Given the description of an element on the screen output the (x, y) to click on. 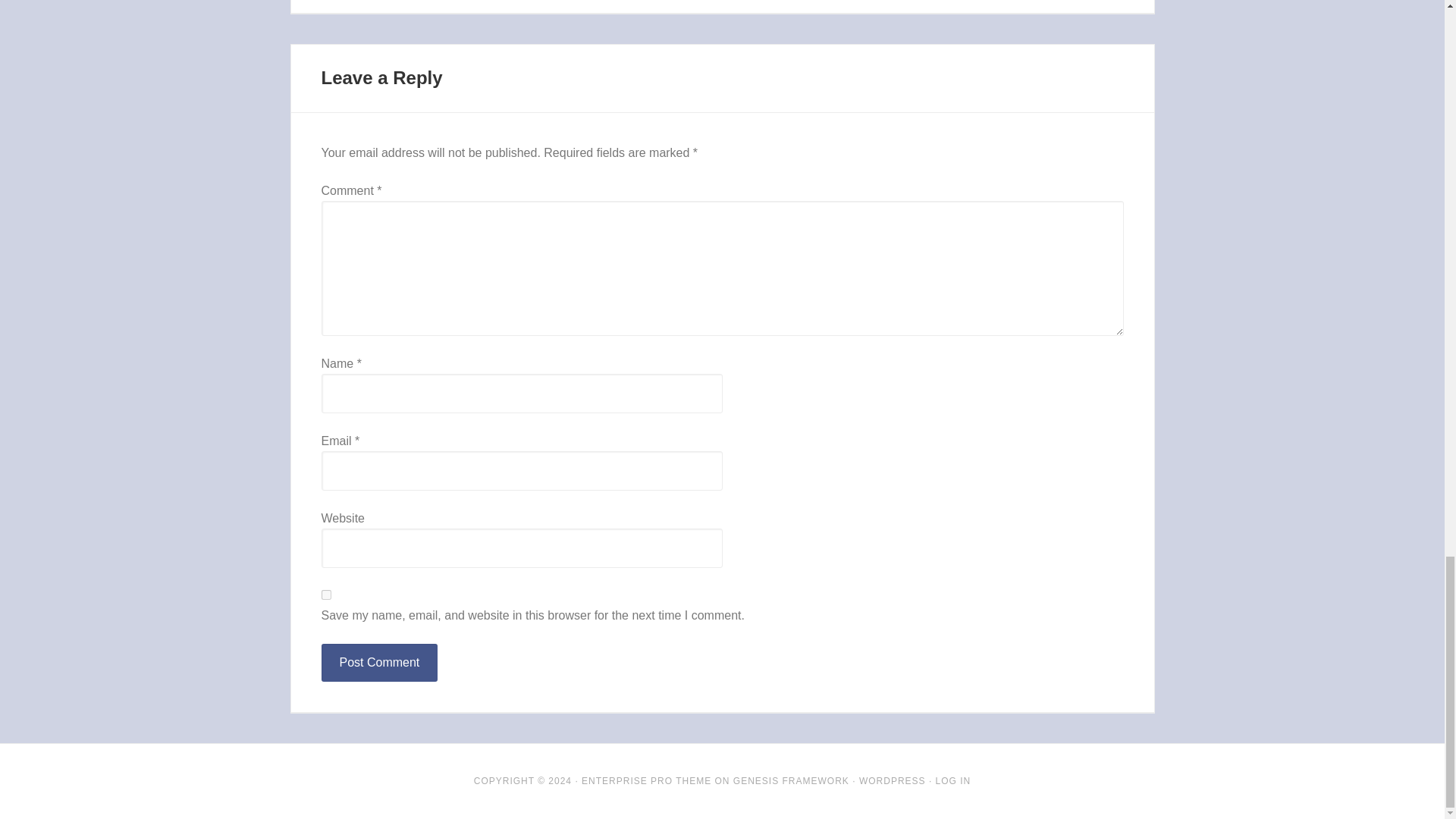
GENESIS FRAMEWORK (790, 780)
Post Comment (379, 662)
LOG IN (953, 780)
Post Comment (379, 662)
yes (326, 594)
ENTERPRISE PRO THEME (645, 780)
WORDPRESS (892, 780)
